Given the description of an element on the screen output the (x, y) to click on. 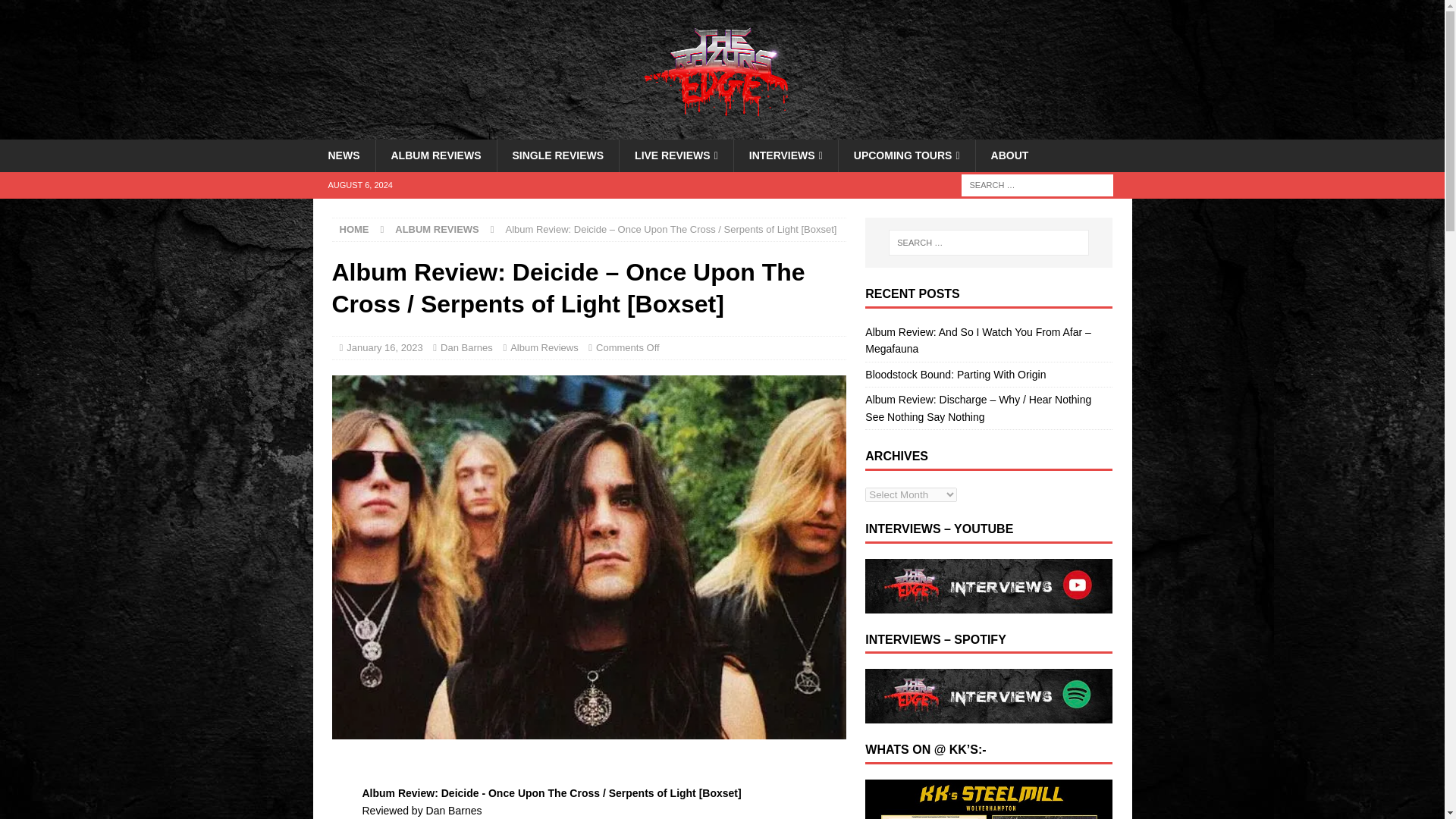
Album Reviews (544, 347)
Dan Barnes (467, 347)
ABOUT (1009, 155)
ALBUM REVIEWS (436, 229)
NEWS (343, 155)
LIVE REVIEWS (675, 155)
January 16, 2023 (384, 347)
SINGLE REVIEWS (557, 155)
ALBUM REVIEWS (435, 155)
